Given the description of an element on the screen output the (x, y) to click on. 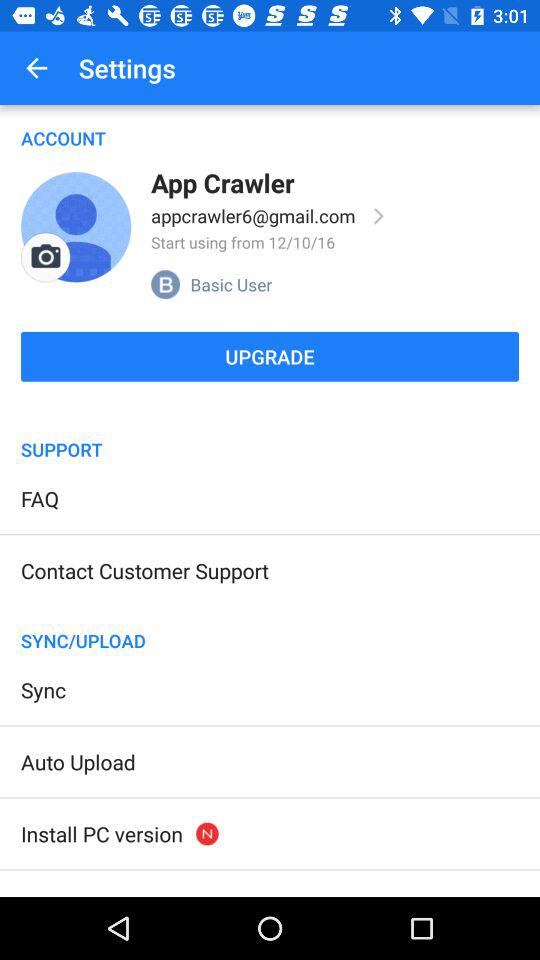
flip until app crawler item (222, 182)
